Given the description of an element on the screen output the (x, y) to click on. 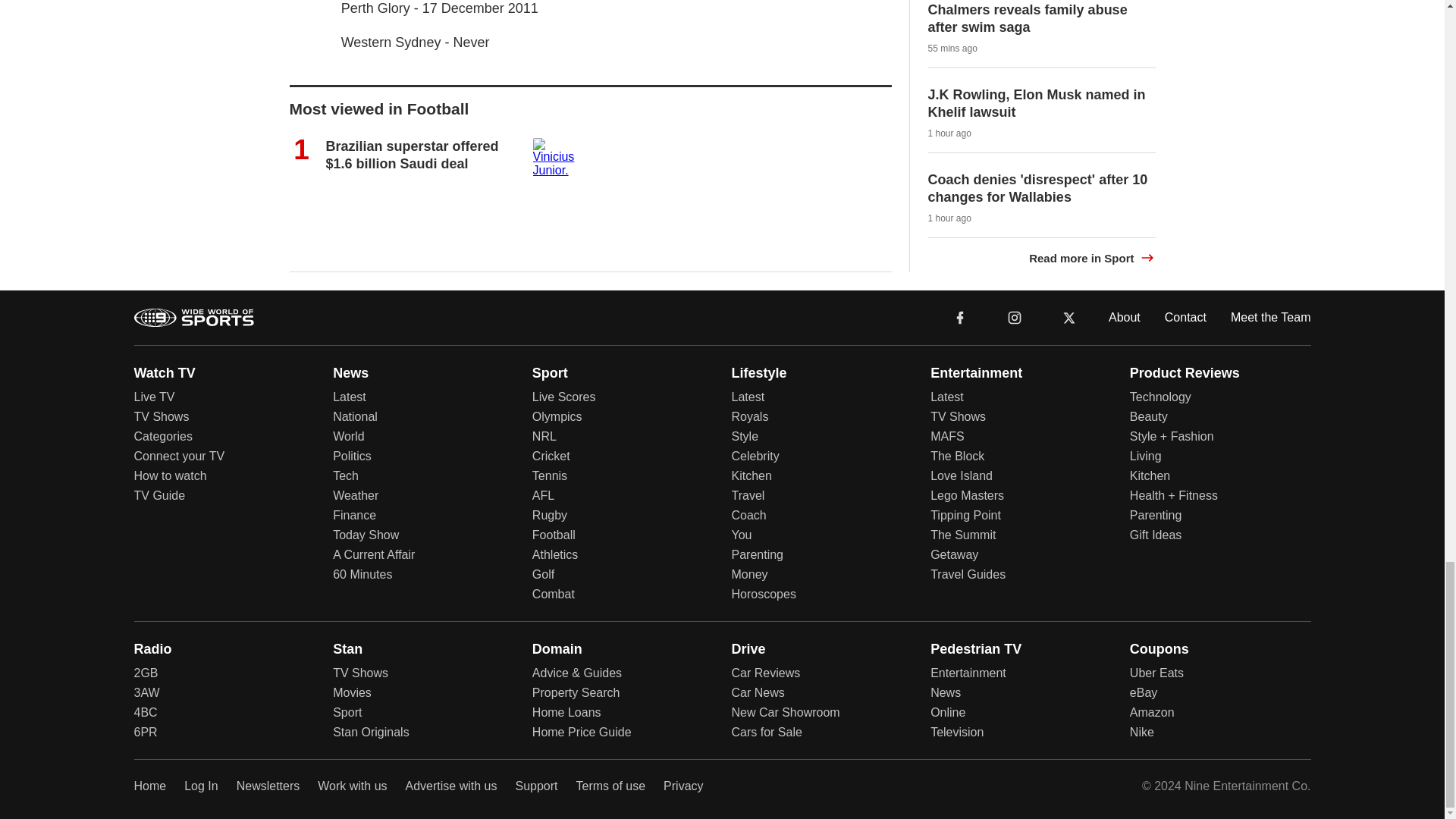
instagram (1013, 316)
Live TV (153, 396)
Contact (1185, 316)
x (1069, 317)
instagram (1013, 316)
Meet the Team (1270, 316)
TV Shows (161, 416)
Watch TV (164, 372)
facebook (959, 316)
facebook (960, 317)
